Given the description of an element on the screen output the (x, y) to click on. 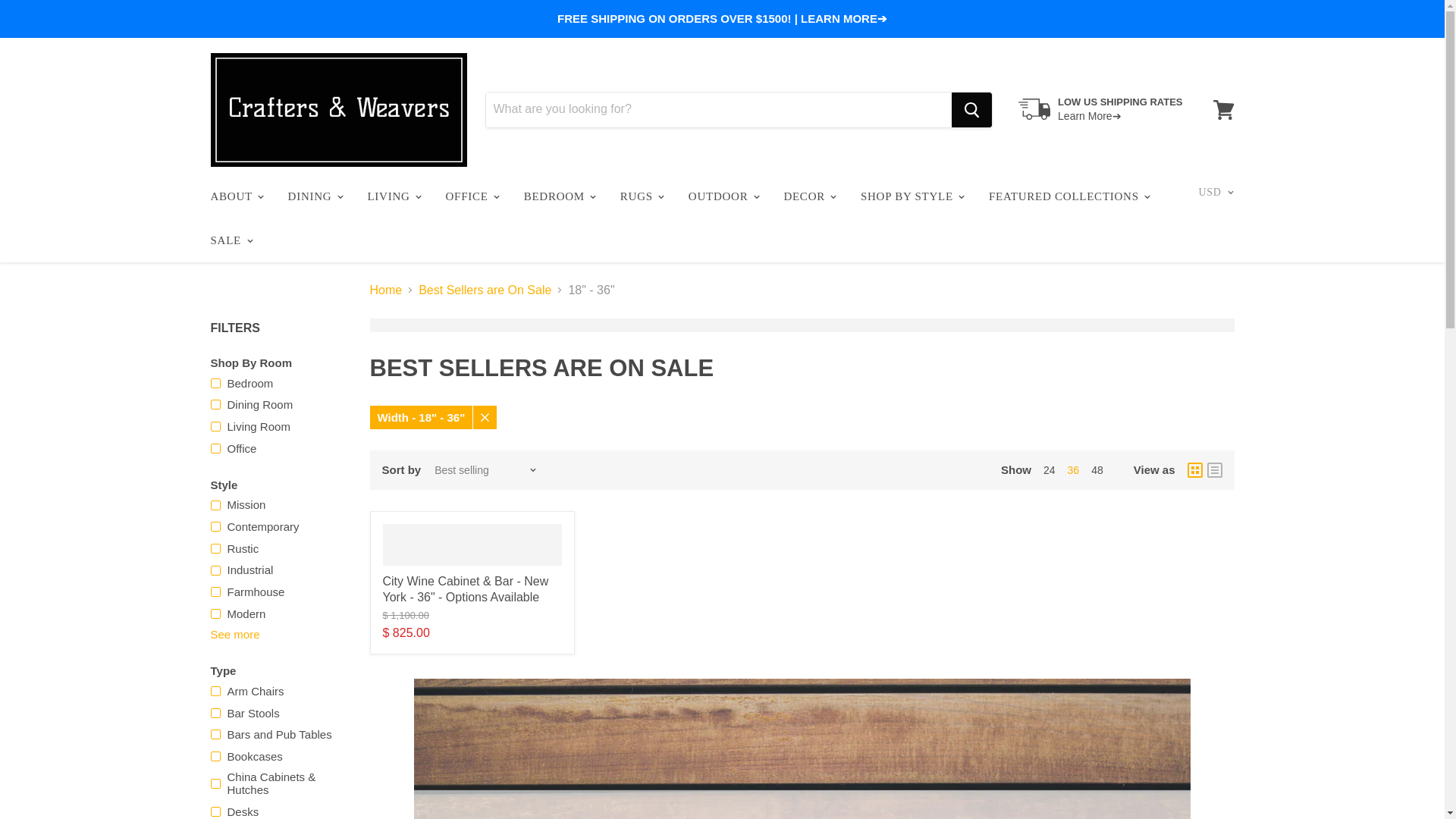
DINING (314, 196)
ABOUT (235, 196)
View cart (1223, 109)
LIVING (392, 196)
